Given the description of an element on the screen output the (x, y) to click on. 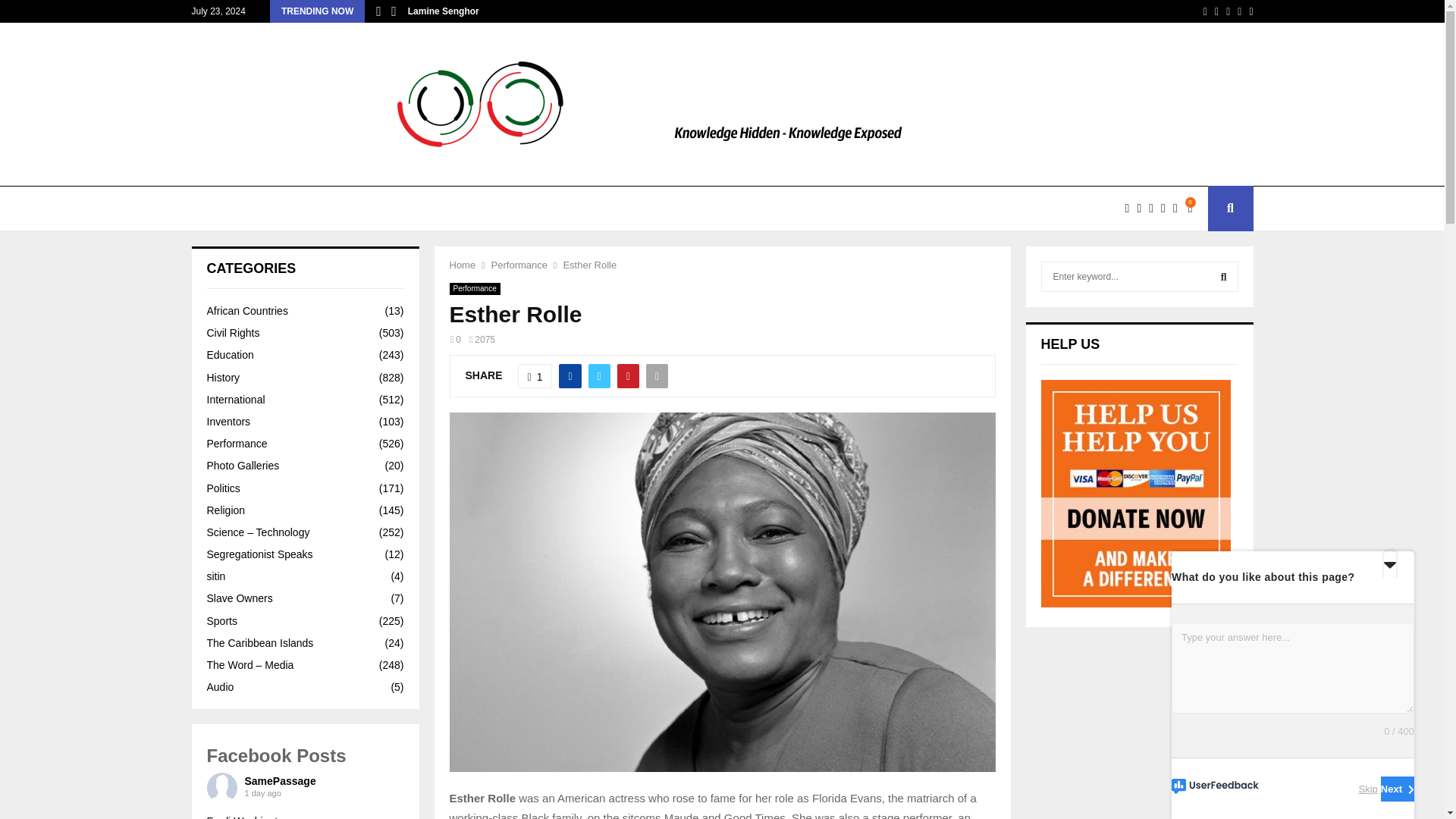
Lamine Senghor (443, 10)
Like (535, 375)
